Given the description of an element on the screen output the (x, y) to click on. 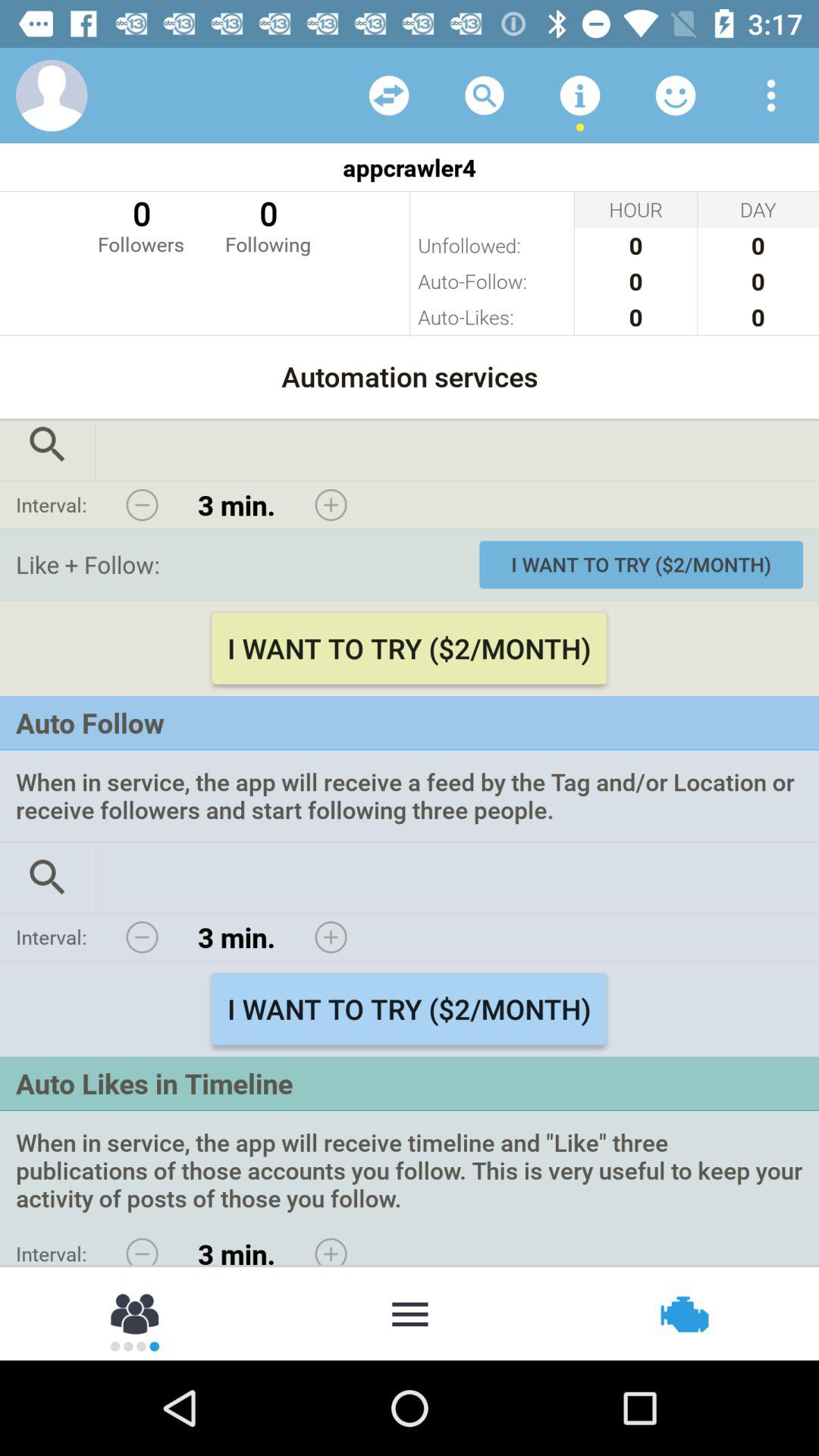
decrease auto like time interval (142, 1247)
